Given the description of an element on the screen output the (x, y) to click on. 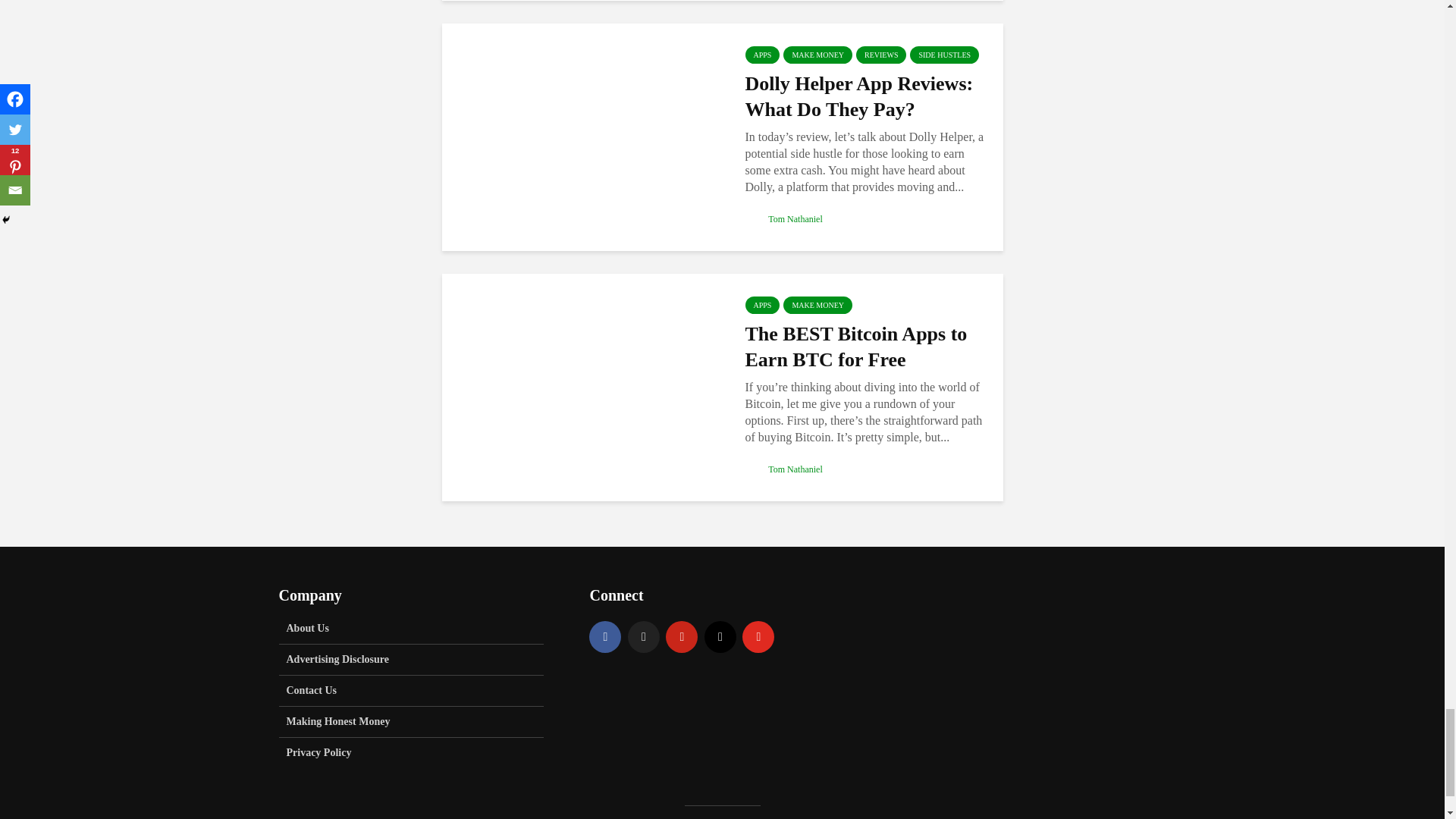
Dolly Helper App Reviews: What Do They Pay? (581, 135)
The BEST Bitcoin Apps to Earn BTC for Free (581, 386)
Facebook (605, 636)
